Given the description of an element on the screen output the (x, y) to click on. 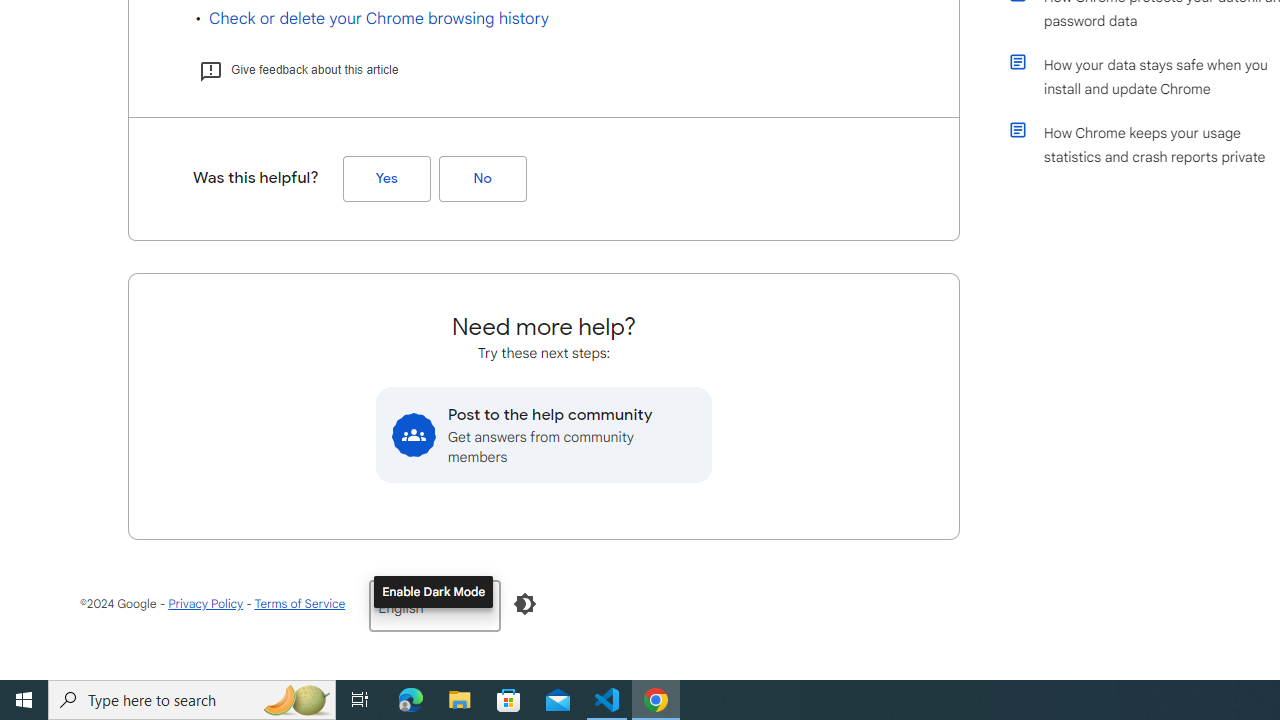
Terms of Service (299, 603)
No (Was this helpful?) (482, 179)
Enable Dark Mode (525, 603)
Yes (Was this helpful?) (386, 179)
Check or delete your Chrome browsing history (379, 18)
Give feedback about this article (298, 69)
